Given the description of an element on the screen output the (x, y) to click on. 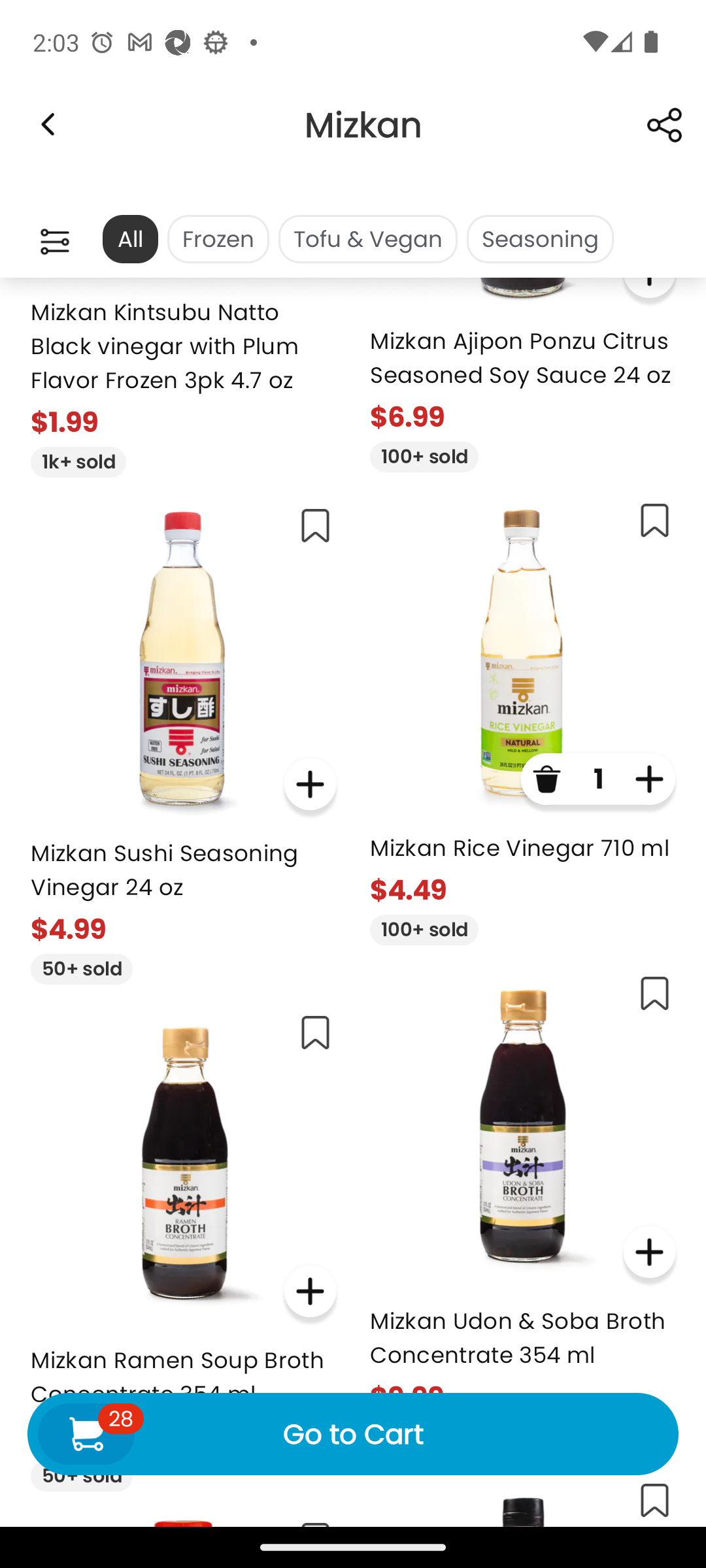
All (130, 238)
Frozen (217, 238)
Tofu & Vegan (367, 238)
Seasoning (539, 238)
1 Mizkan Rice Vinegar 710 ml $4.49 100+ sold (522, 715)
28 Go to Cart (352, 1433)
